Given the description of an element on the screen output the (x, y) to click on. 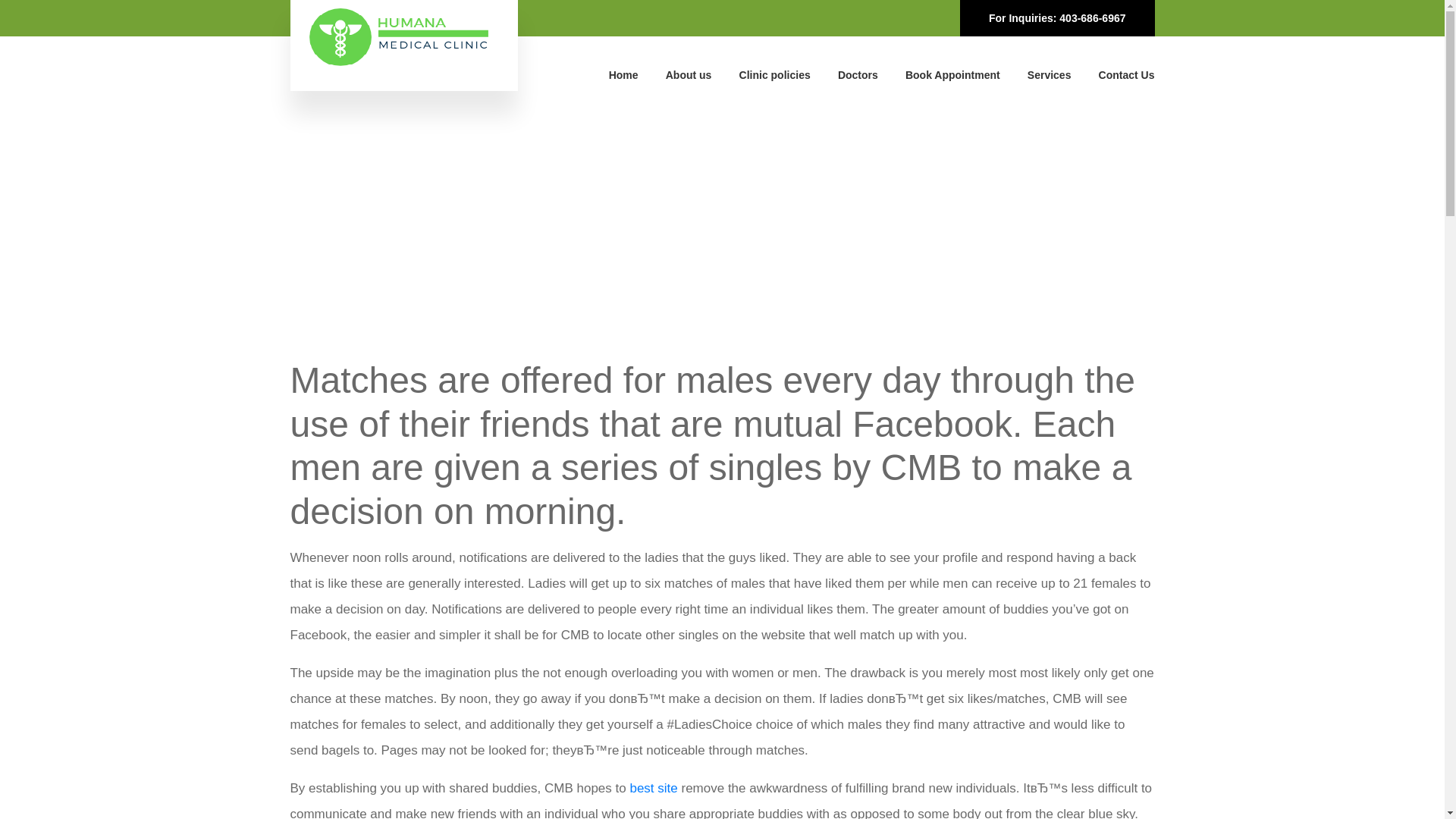
Home (623, 74)
Clinic policies (774, 74)
About us (688, 74)
Book Appointment (952, 74)
best site (652, 788)
Contact Us (1126, 74)
Doctors (857, 74)
Services (1049, 74)
